Given the description of an element on the screen output the (x, y) to click on. 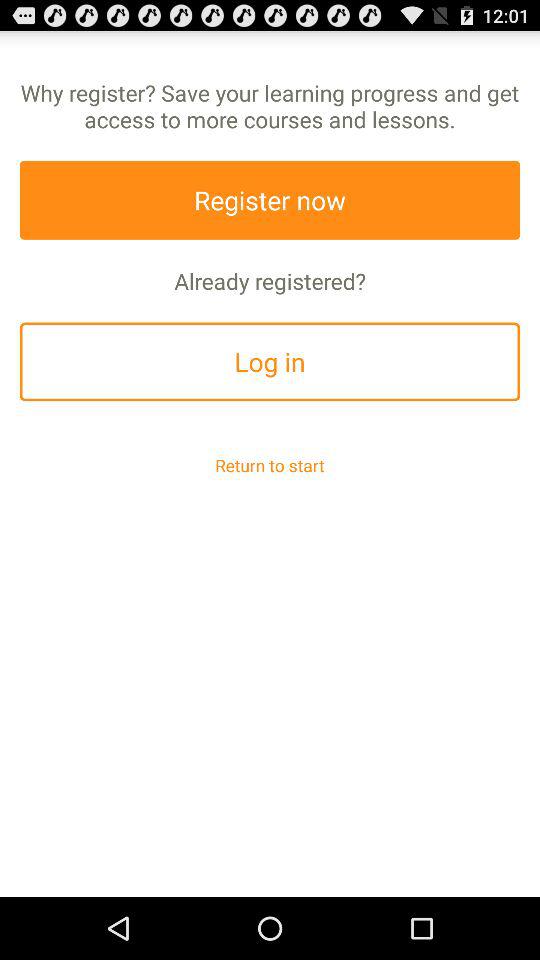
launch the icon below the already registered? (269, 361)
